Given the description of an element on the screen output the (x, y) to click on. 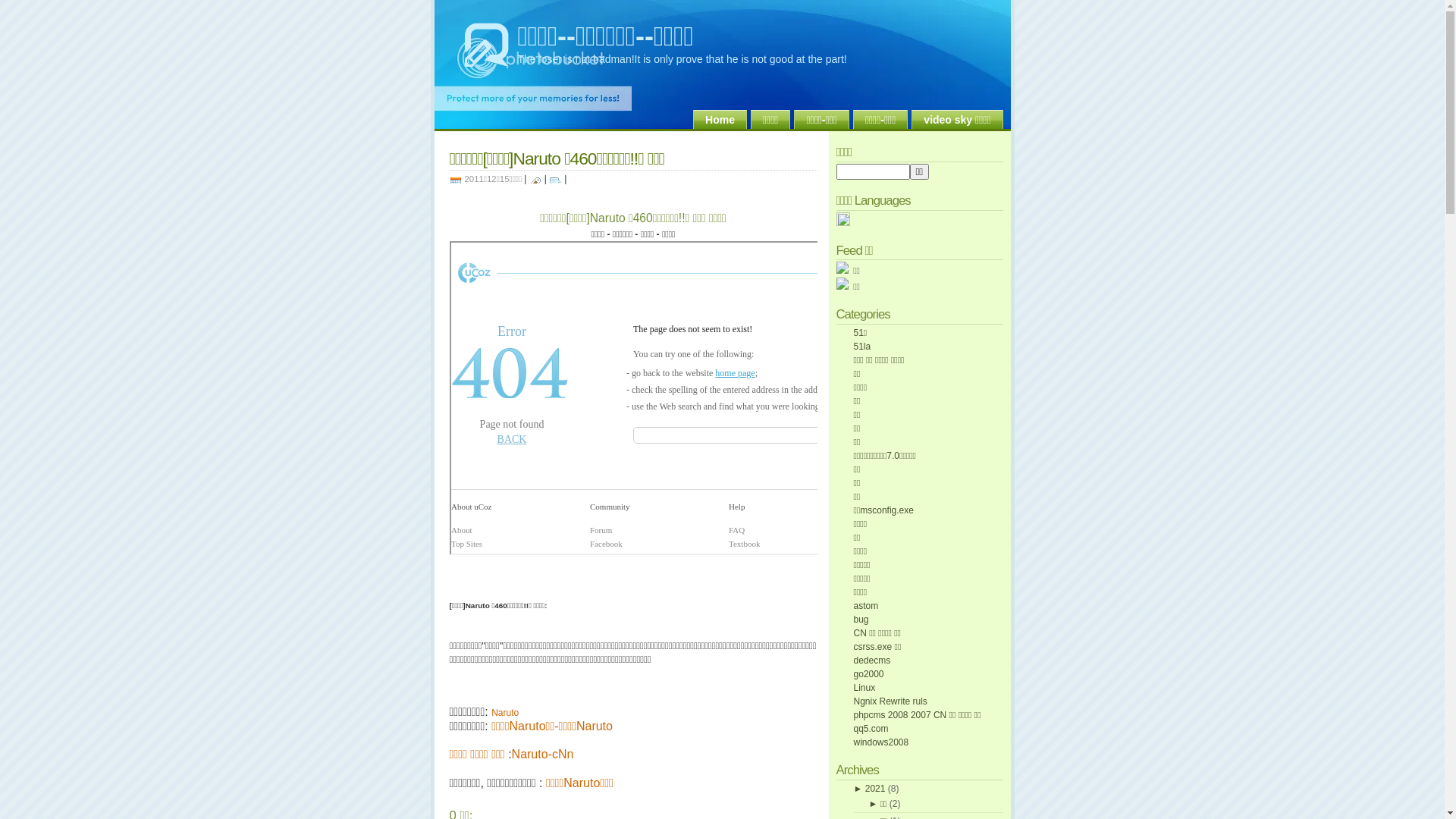
dedecms Element type: text (872, 660)
search Element type: hover (919, 171)
astom Element type: text (865, 605)
Ngnix Rewrite ruls Element type: text (890, 701)
Naruto-cNn Element type: text (542, 753)
Naruto Element type: text (504, 712)
go2000 Element type: text (868, 673)
qq5.com Element type: text (870, 728)
Naruto Element type: text (594, 725)
Home Element type: text (719, 118)
windows2008 Element type: text (881, 742)
Linux Element type: text (864, 687)
2021 Element type: text (875, 788)
bug Element type: text (861, 619)
search Element type: hover (872, 171)
51la Element type: text (862, 346)
